Given the description of an element on the screen output the (x, y) to click on. 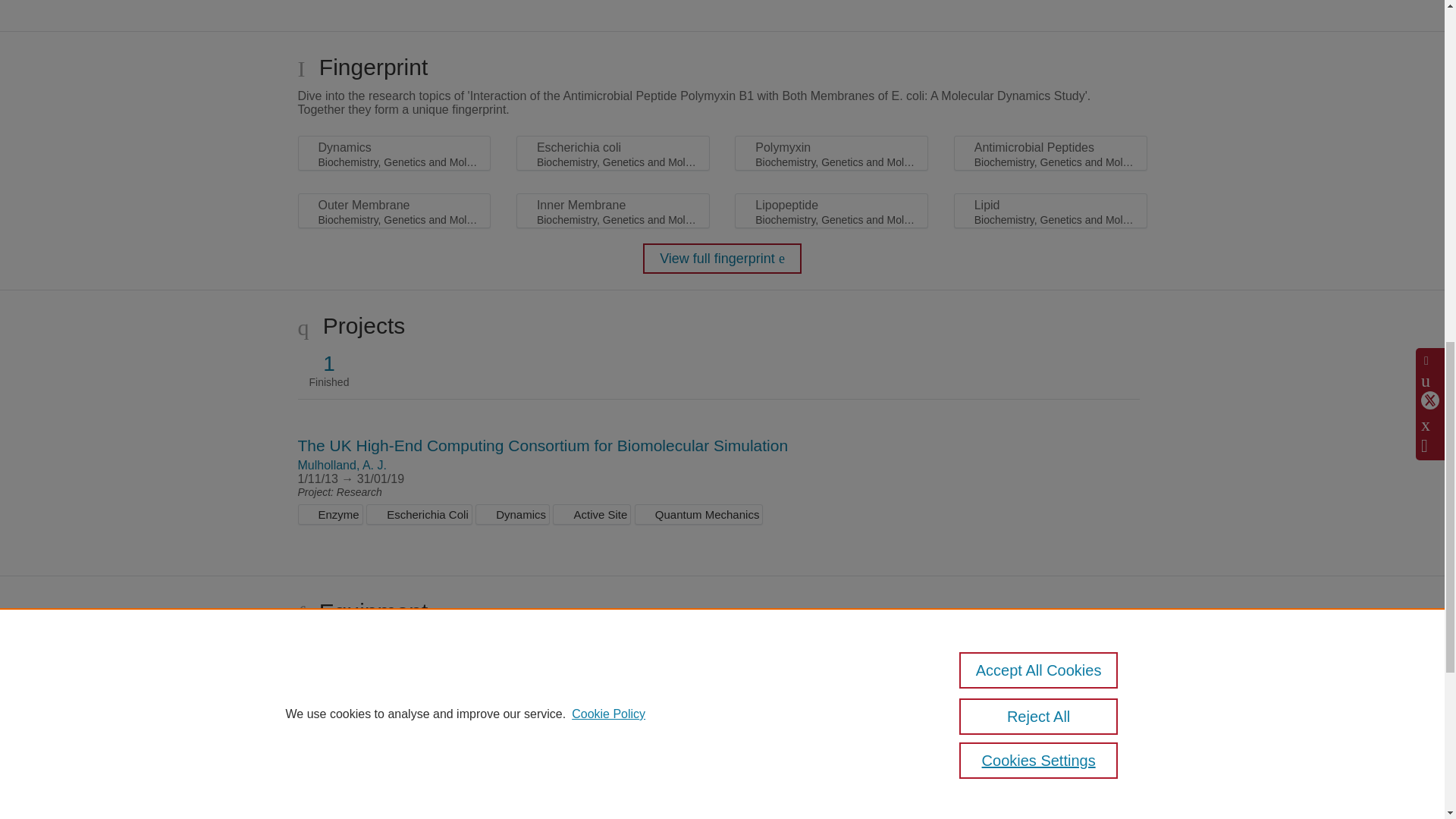
View full fingerprint (722, 258)
1 (328, 363)
